Given the description of an element on the screen output the (x, y) to click on. 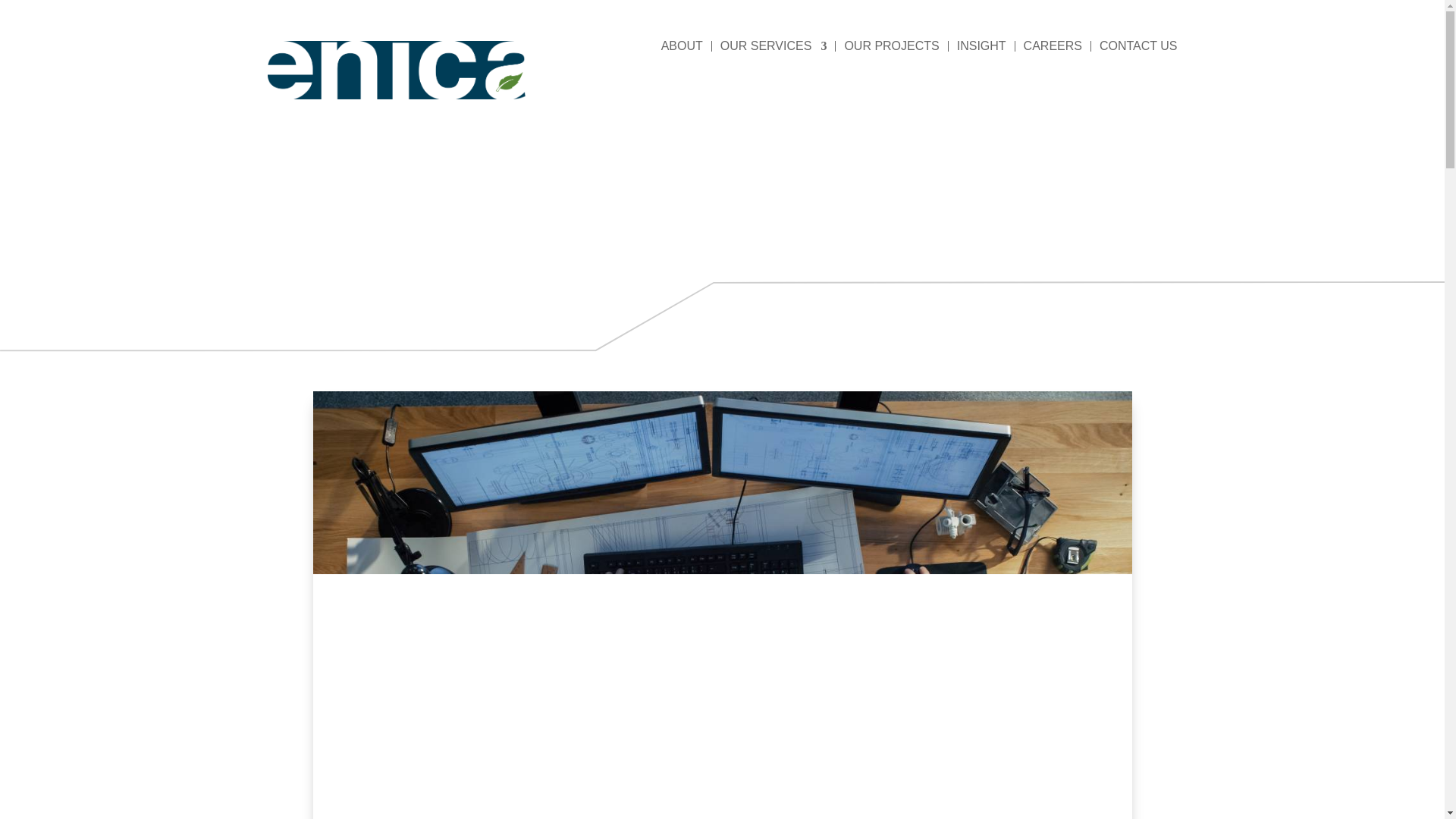
CONTACT US (1138, 45)
INSIGHT (981, 45)
ABOUT (682, 45)
OUR SERVICES (773, 45)
OUR PROJECTS (891, 45)
CAREERS (1052, 45)
